Given the description of an element on the screen output the (x, y) to click on. 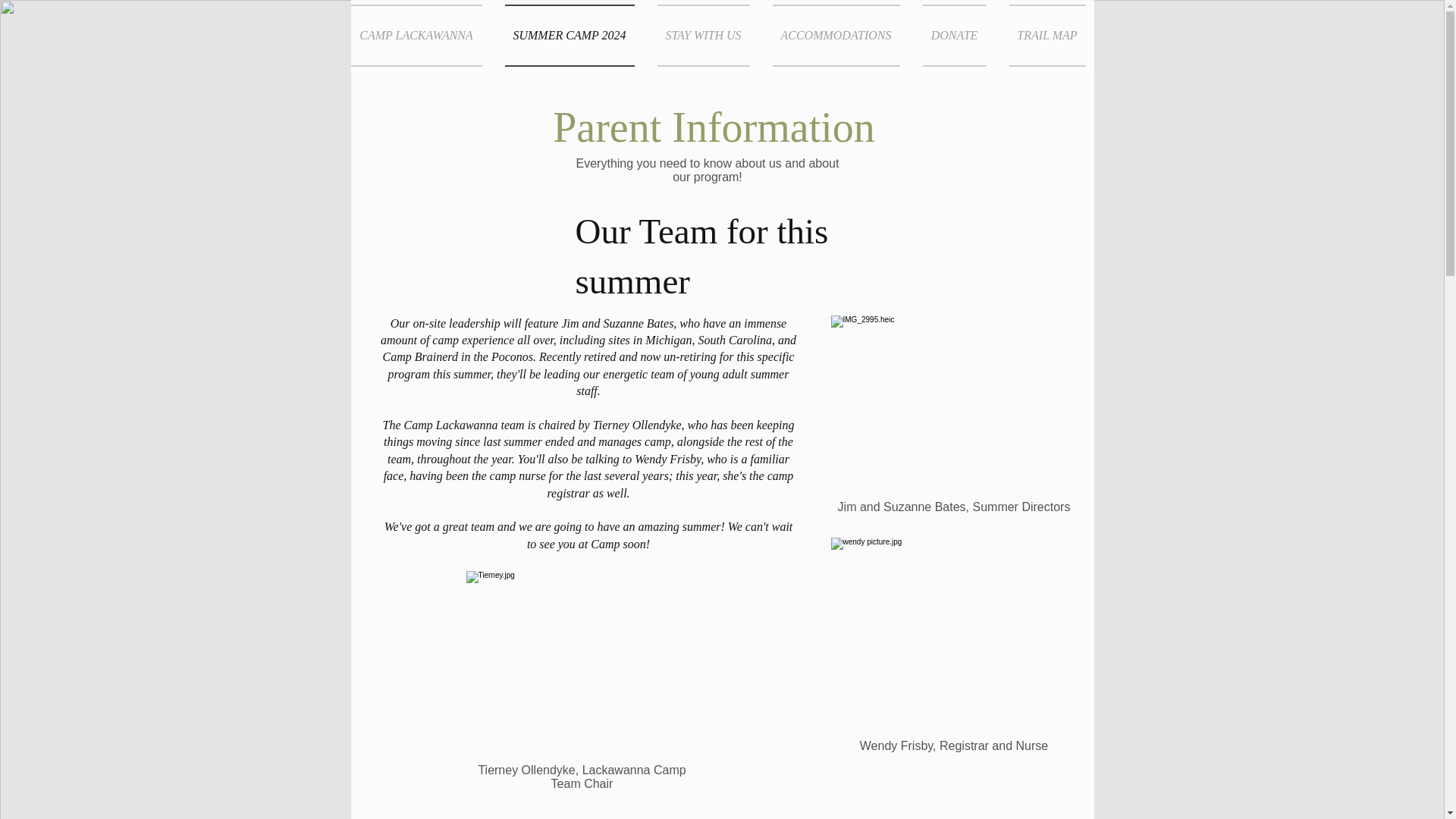
DONATE (954, 35)
TRAIL MAP (1041, 35)
SUMMER CAMP 2024 (569, 35)
ACCOMMODATIONS (836, 35)
CAMP LACKAWANNA (421, 35)
STAY WITH US (703, 35)
